Given the description of an element on the screen output the (x, y) to click on. 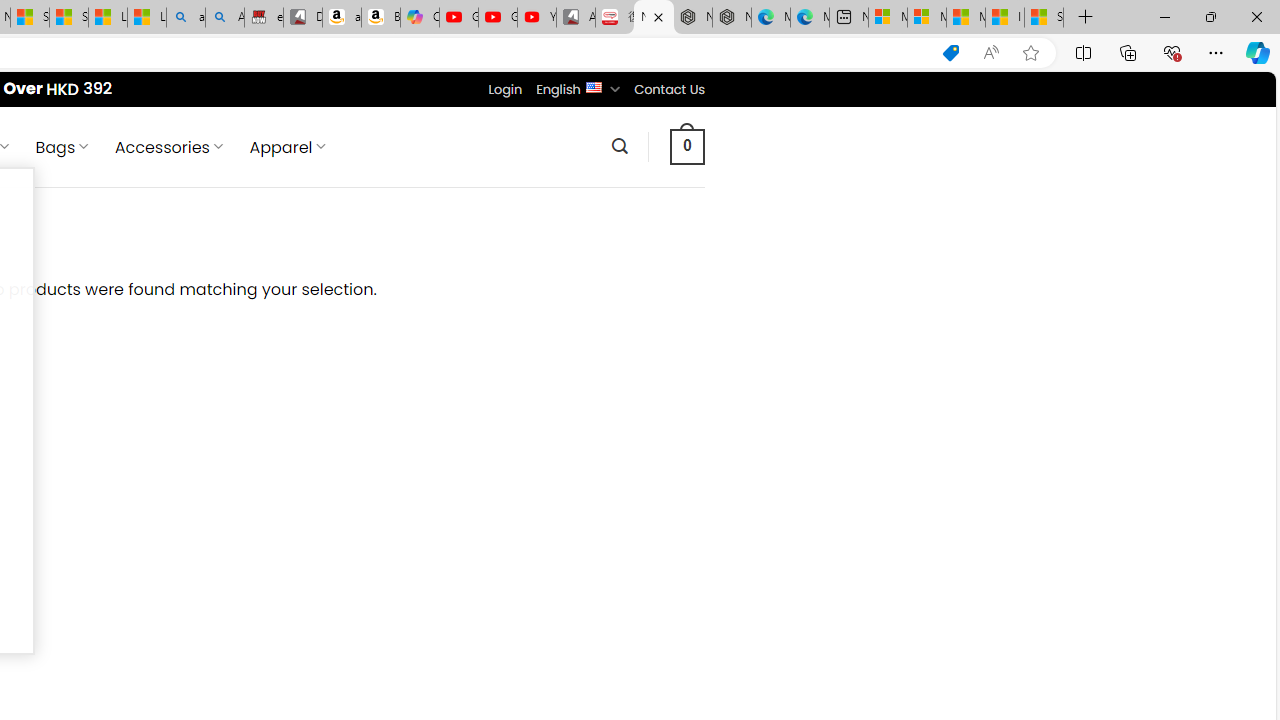
Amazon Echo Dot PNG - Search Images (225, 17)
Collections (1128, 52)
Login (505, 89)
All Cubot phones (575, 17)
